Given the description of an element on the screen output the (x, y) to click on. 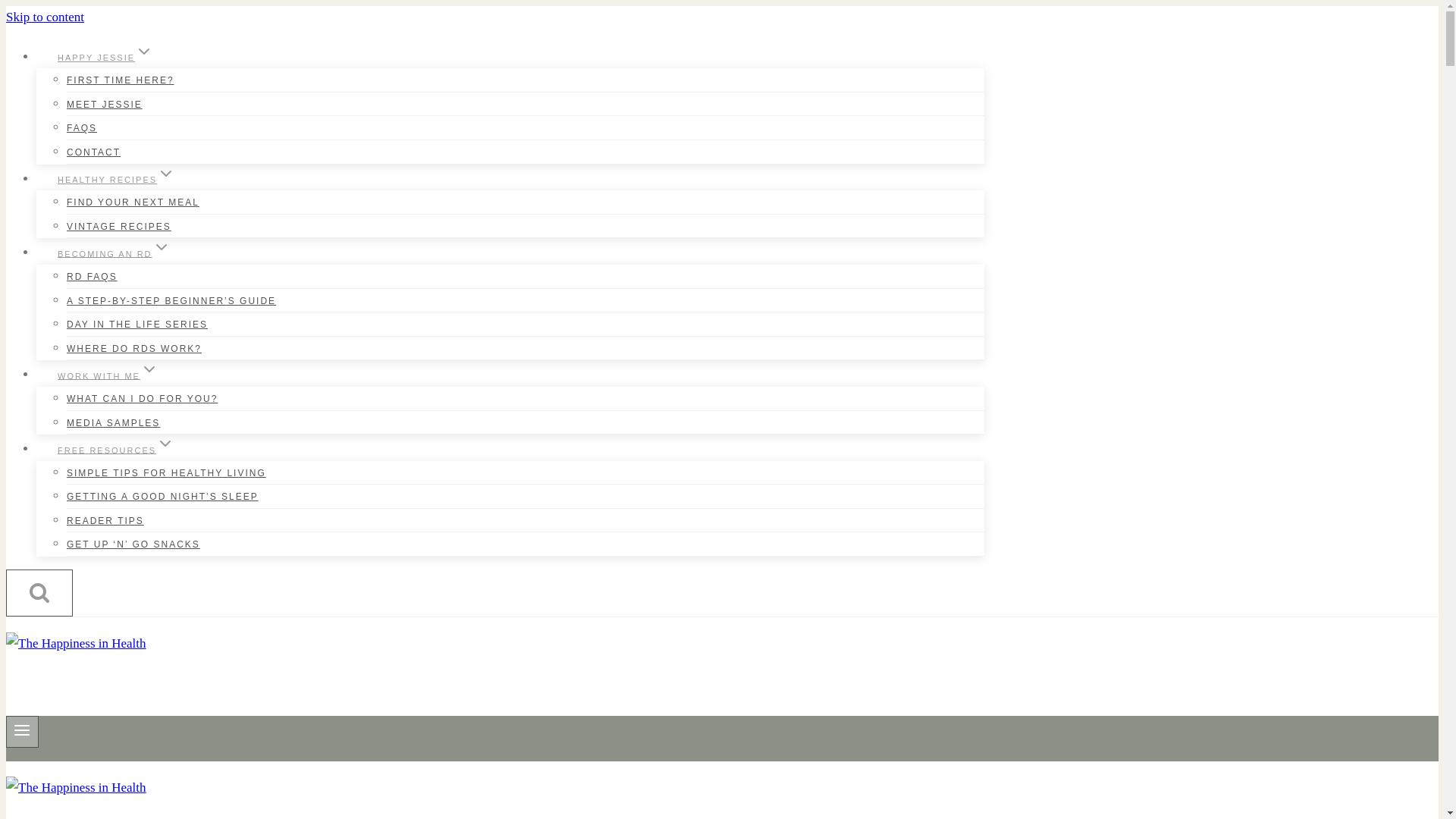
HAPPY JESSIEEXPAND (105, 56)
WHERE DO RDS WORK? (134, 348)
BECOMING AN RDEXPAND (114, 253)
MEDIA SAMPLES (113, 421)
FIND YOUR NEXT MEAL (132, 202)
SEARCH (39, 591)
HEALTHY RECIPESEXPAND (116, 179)
SEARCH (38, 592)
EXPAND (165, 173)
WORK WITH MEEXPAND (107, 375)
